Given the description of an element on the screen output the (x, y) to click on. 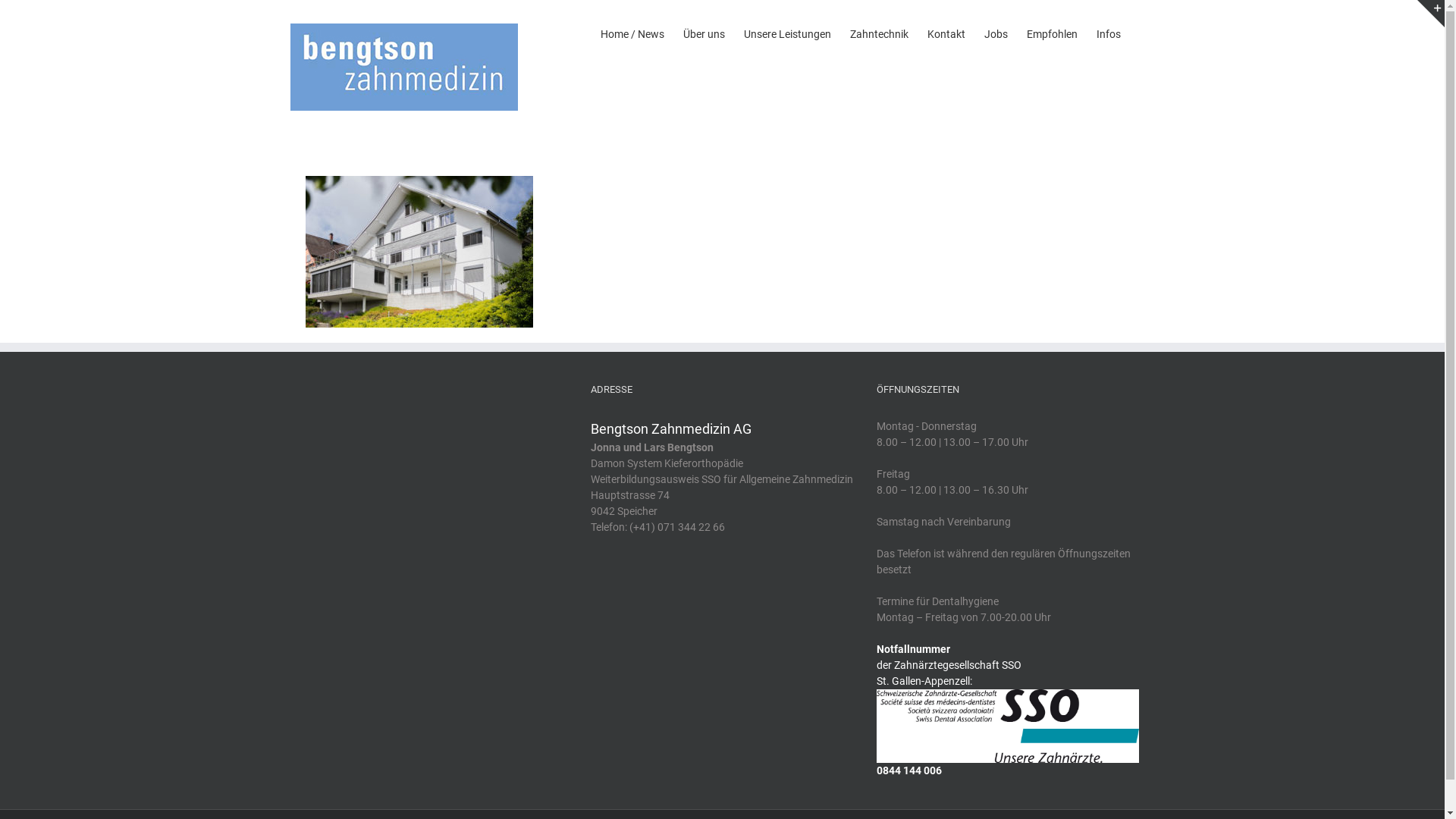
Toggle Sliding Bar Area Element type: text (1430, 13)
Unsere Leistungen Element type: text (786, 32)
Kontakt Element type: text (945, 32)
Infos Element type: text (1108, 32)
Empfohlen Element type: text (1051, 32)
Home / News Element type: text (632, 32)
Jobs Element type: text (995, 32)
Zahntechnik Element type: text (878, 32)
unbenannte-fotosession-4449 Element type: hover (418, 183)
